Given the description of an element on the screen output the (x, y) to click on. 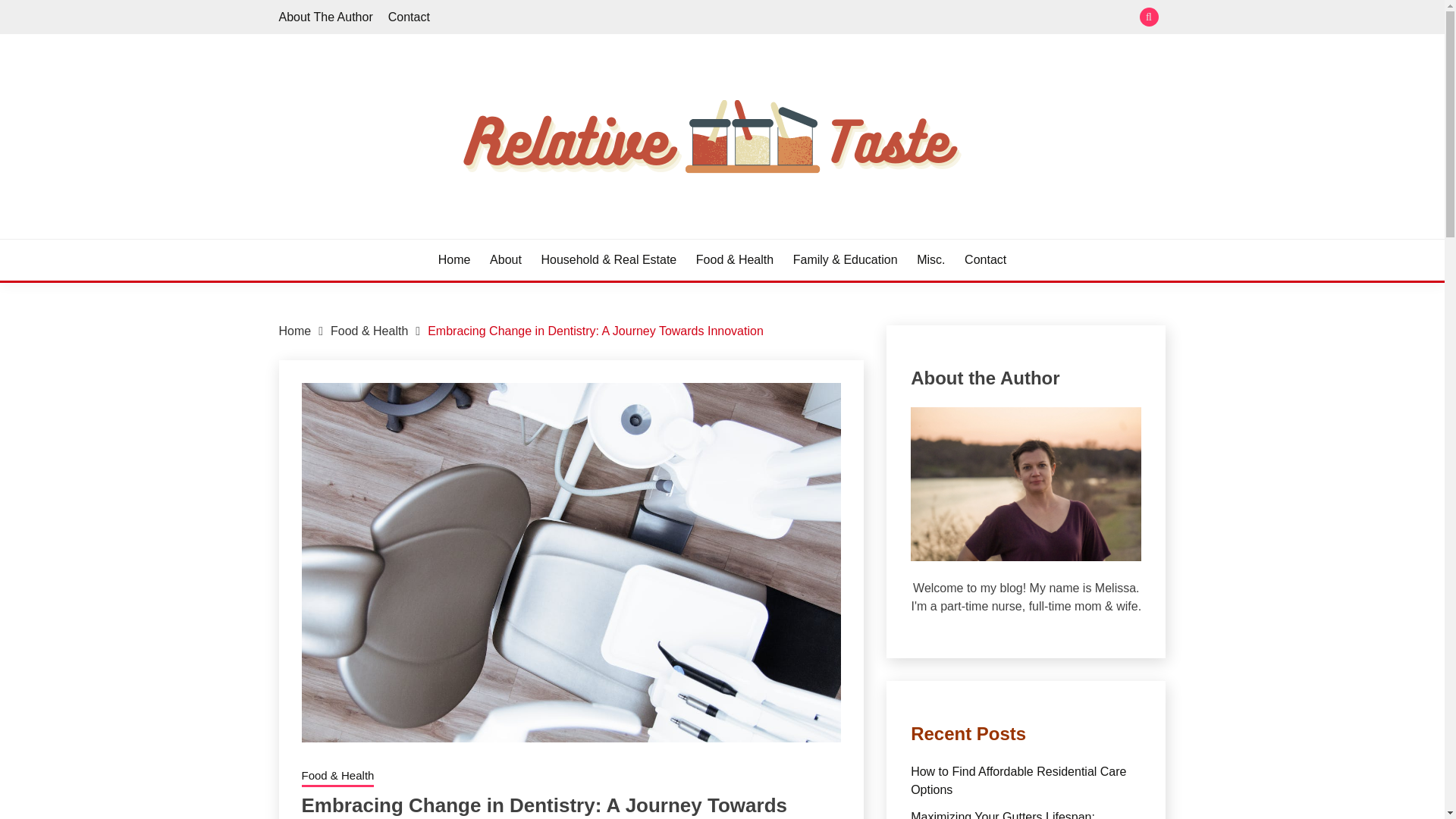
Contact (984, 259)
Home (295, 330)
Misc. (930, 259)
Contact (408, 16)
About (505, 259)
Search (832, 18)
Embracing Change in Dentistry: A Journey Towards Innovation (595, 330)
Home (454, 259)
RELATIVE TASTE (395, 236)
About The Author (325, 16)
